Given the description of an element on the screen output the (x, y) to click on. 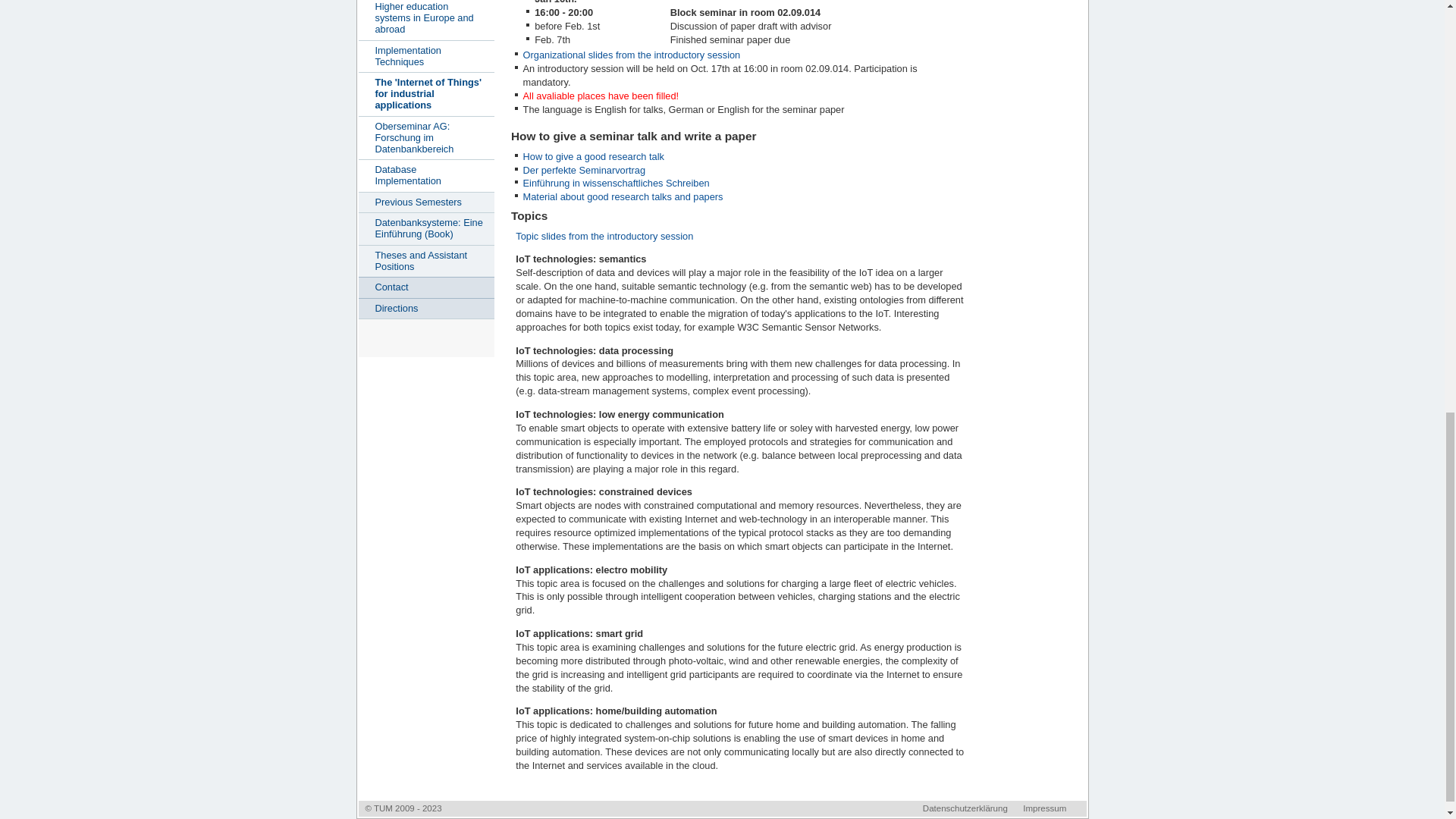
Material about good research talks and papers (622, 196)
Topic slides from the introductory session (604, 235)
Der perfekte Seminarvortrag (583, 169)
How to give a good research talk (592, 156)
Organizational slides from the introductory session (631, 54)
